Given the description of an element on the screen output the (x, y) to click on. 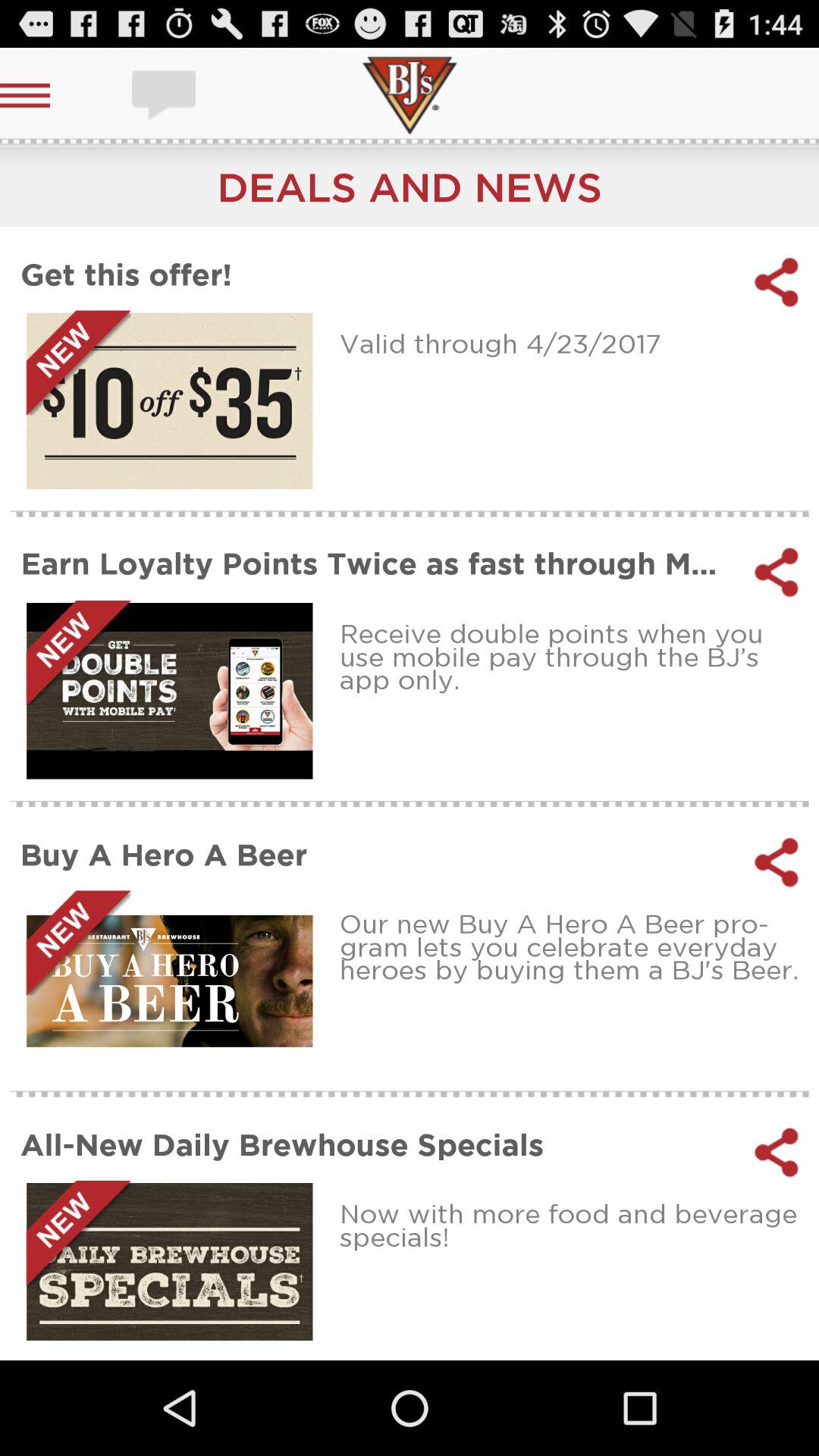
press the valid through 4 app (573, 343)
